Given the description of an element on the screen output the (x, y) to click on. 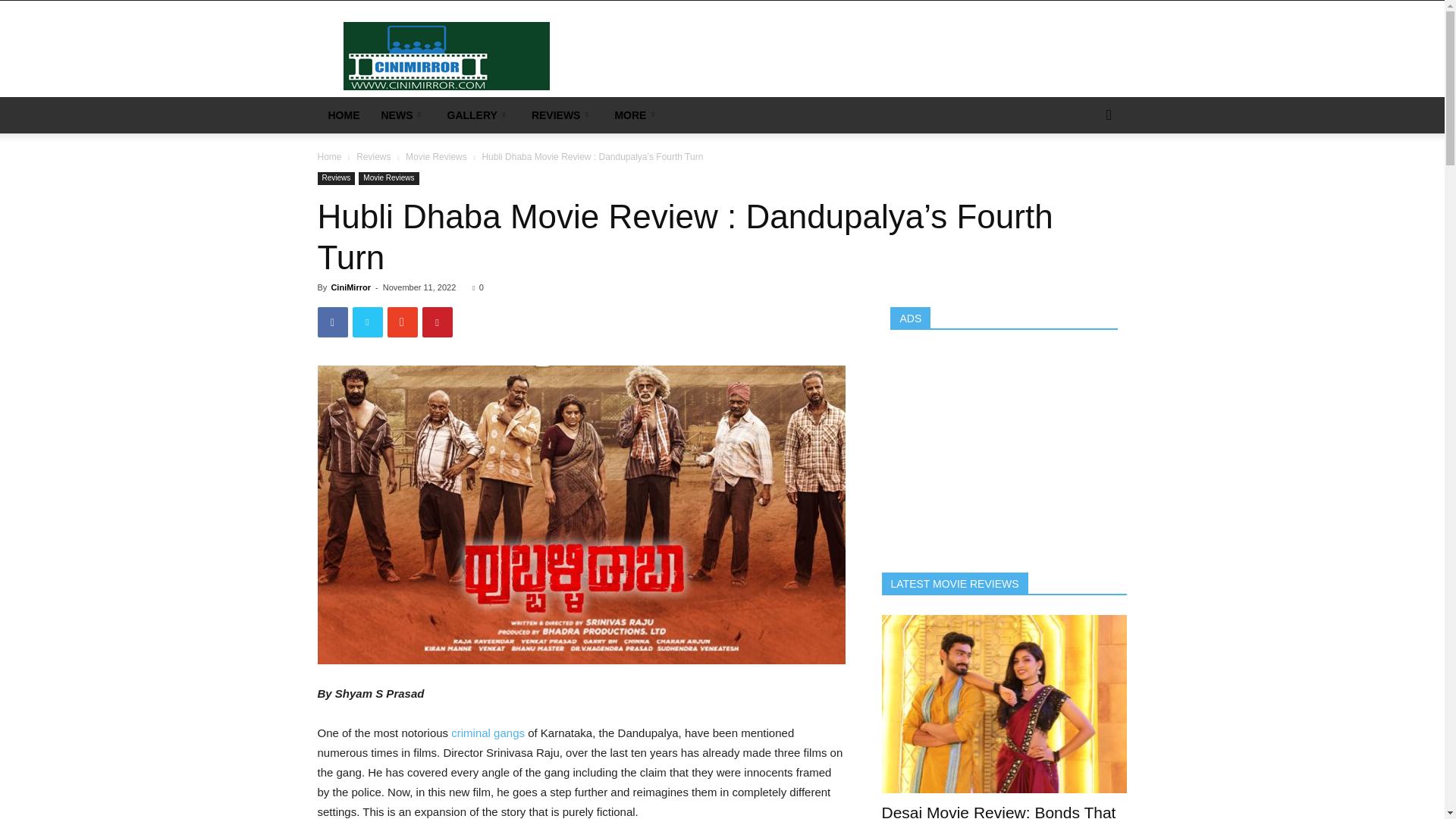
GALLERY (478, 115)
HOME (343, 115)
View all posts in Reviews (373, 156)
View all posts in Movie Reviews (436, 156)
REVIEWS (562, 115)
NEWS (402, 115)
